Given the description of an element on the screen output the (x, y) to click on. 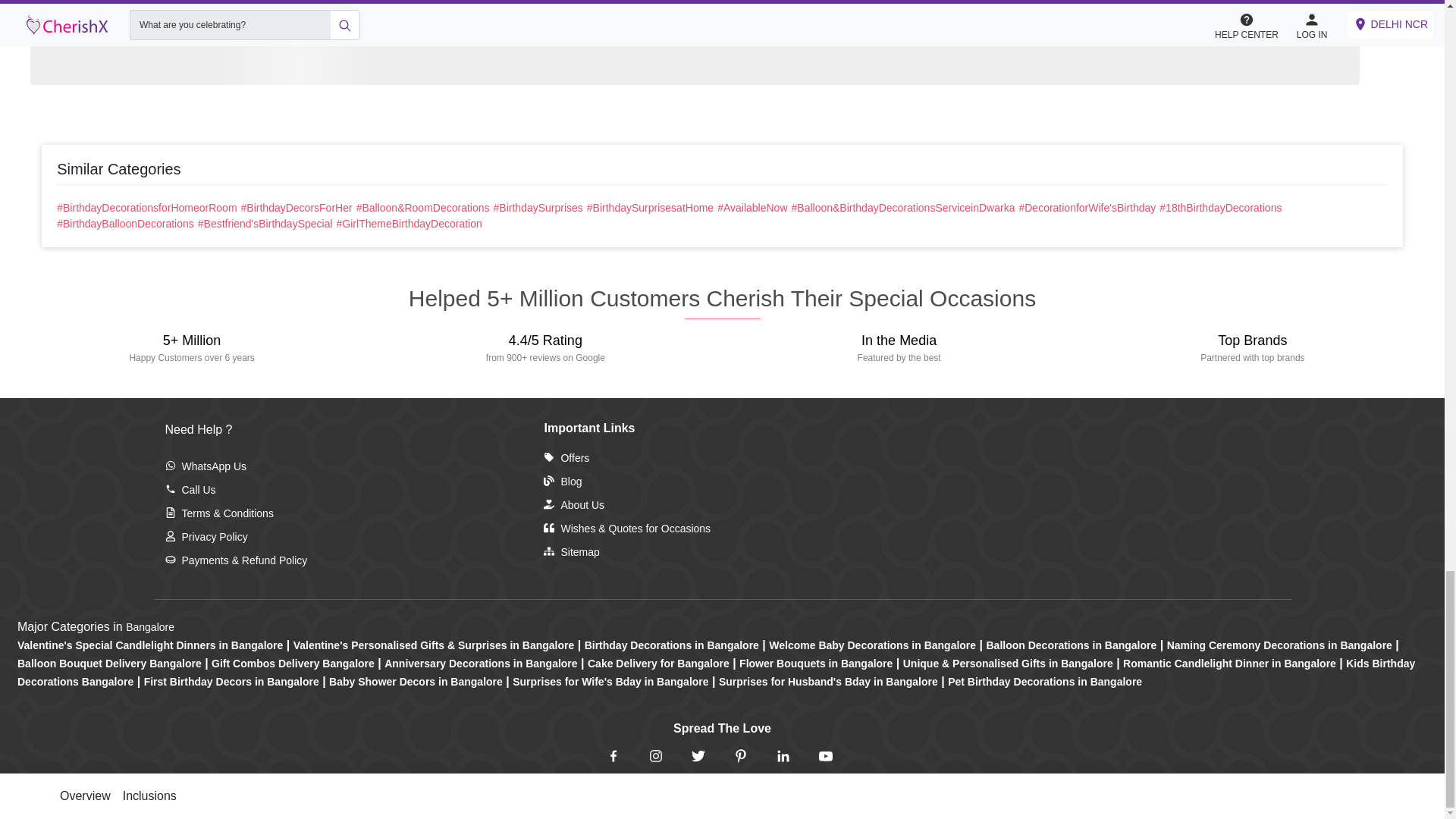
WhatsApp Us (206, 466)
Call Us (190, 490)
Offers (566, 458)
Privacy Policy (206, 536)
